Given the description of an element on the screen output the (x, y) to click on. 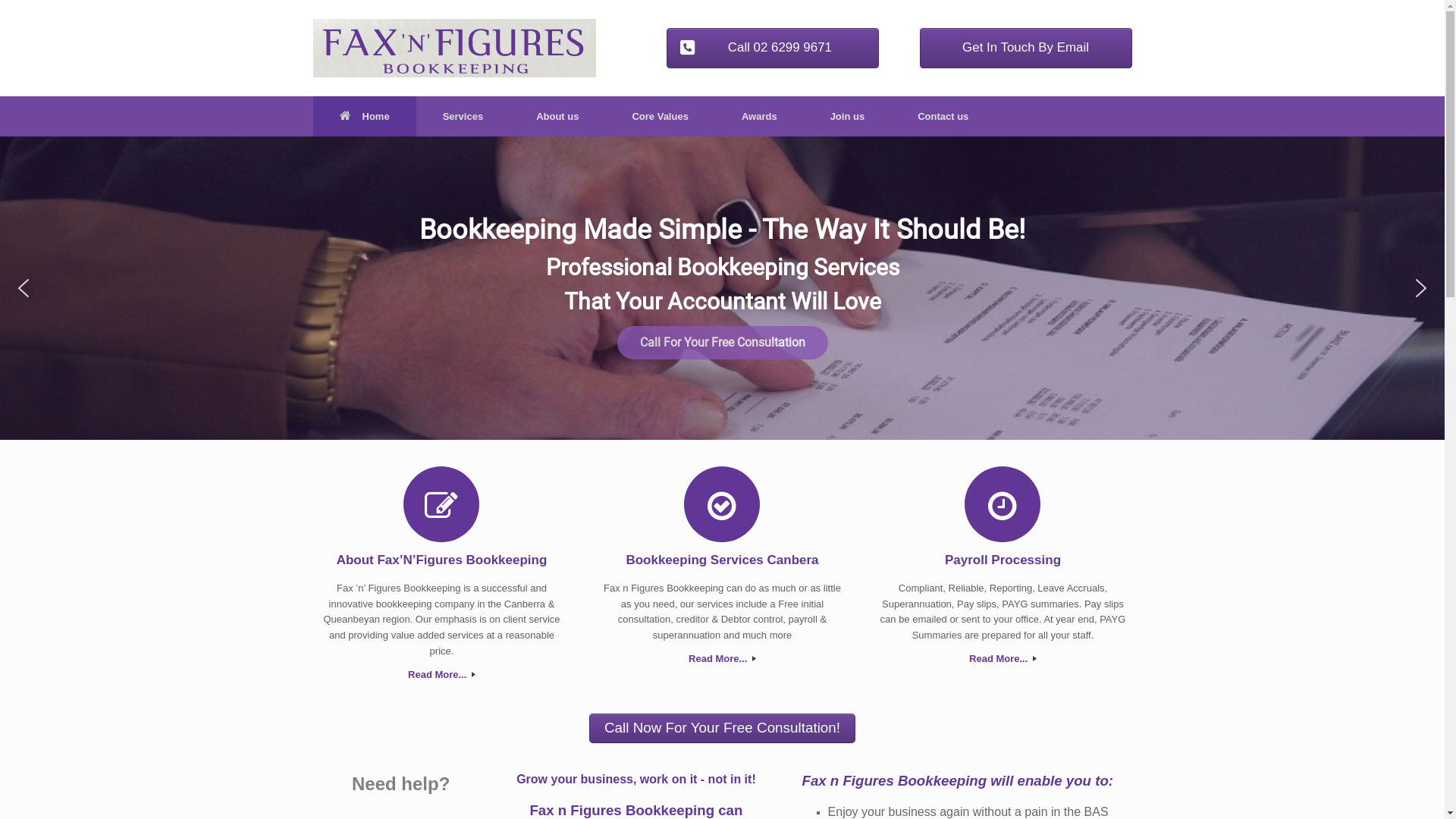
Call 02 6299 9671 Element type: text (772, 48)
Get In Touch By Email Element type: text (1025, 48)
Read More... Element type: text (722, 659)
Core Values Element type: text (659, 116)
Call Now For Your Free Consultation! Element type: text (722, 728)
Services Element type: text (463, 116)
Read More... Element type: text (441, 675)
Join us Element type: text (847, 116)
Awards Element type: text (759, 116)
About us Element type: text (557, 116)
Read More... Element type: text (1003, 659)
Home Element type: text (363, 116)
Call For Your Free Consultation Element type: text (722, 342)
Bookkeeping Services Canbera Element type: text (722, 559)
Bookkeeper Queanbeyan & Canberra ACT Element type: hover (453, 47)
Contact us Element type: text (942, 116)
